Given the description of an element on the screen output the (x, y) to click on. 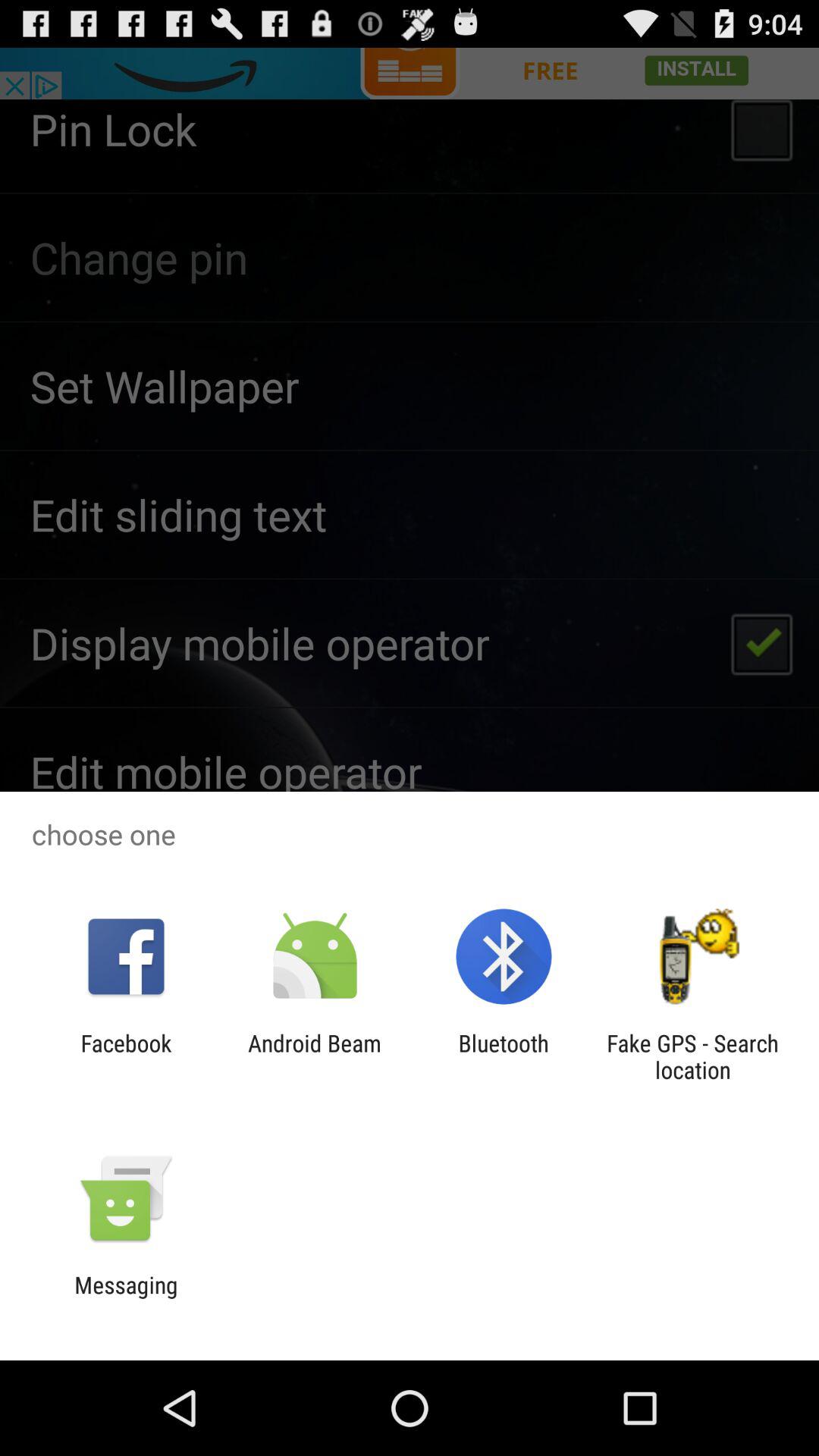
launch icon to the right of the android beam (503, 1056)
